Given the description of an element on the screen output the (x, y) to click on. 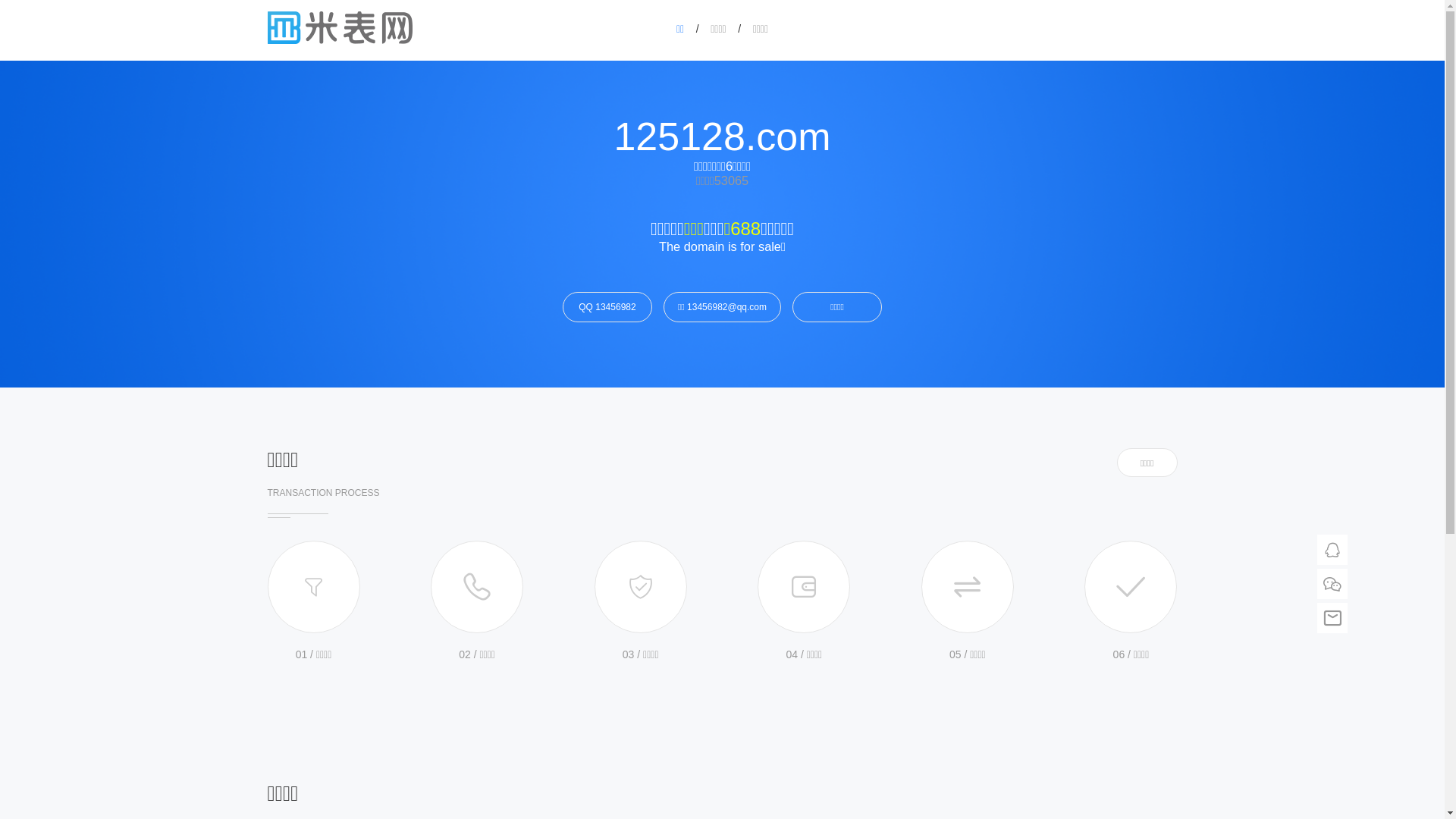
QQ 13456982 Element type: text (607, 306)
